Given the description of an element on the screen output the (x, y) to click on. 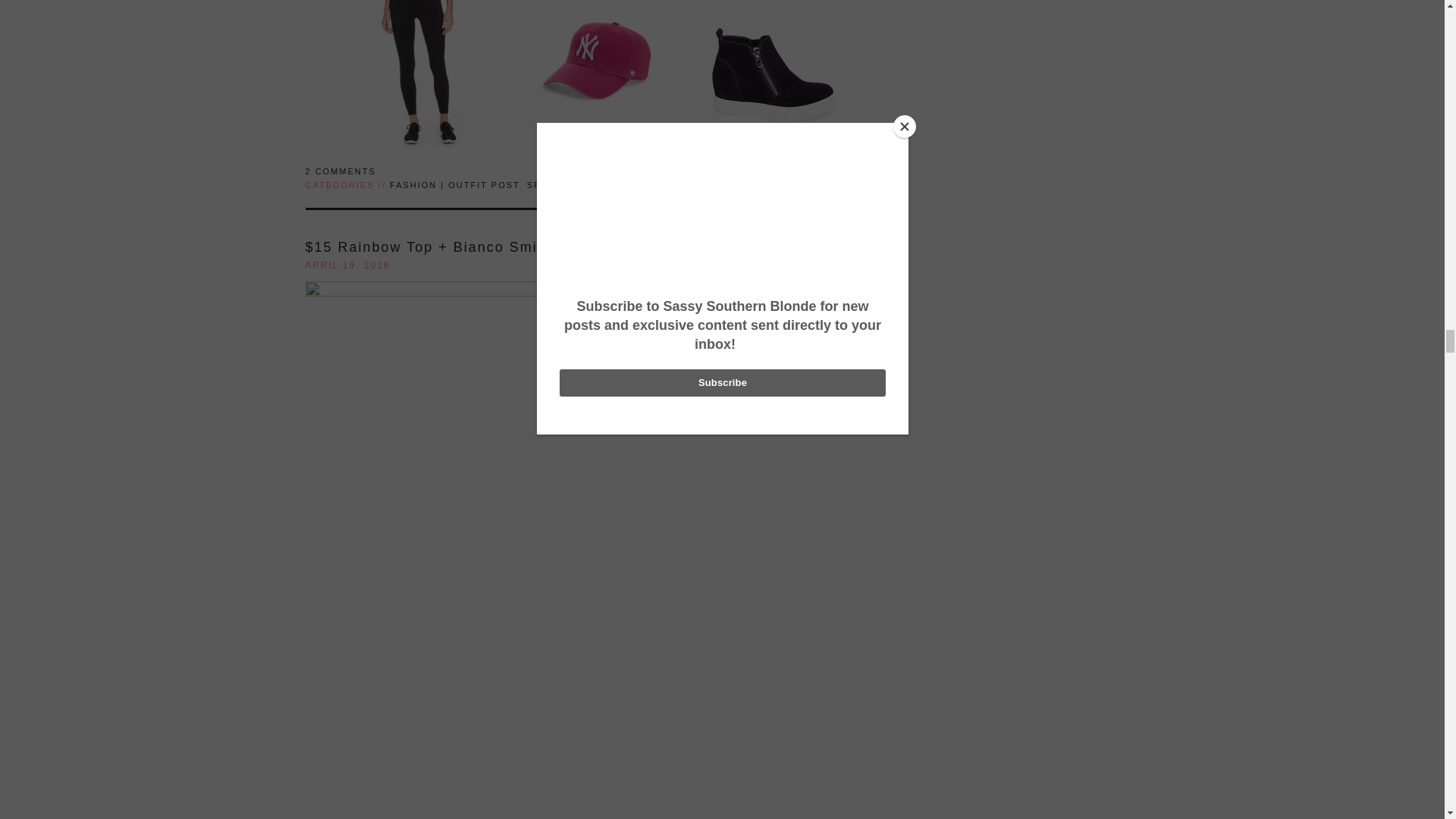
Share this post on Twitter! (835, 183)
